Given the description of an element on the screen output the (x, y) to click on. 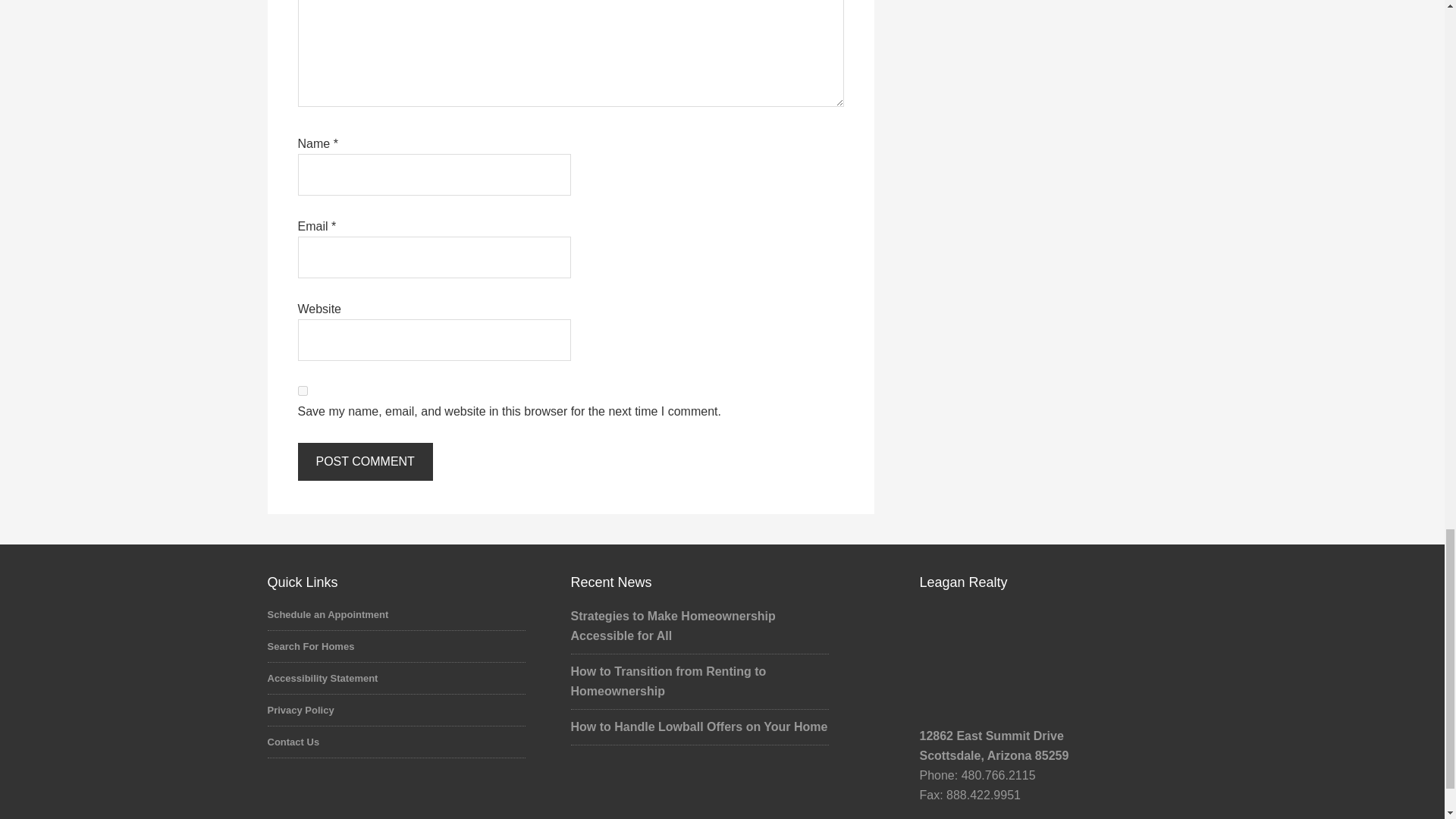
How to Transition from Renting to Homeownership (667, 681)
Privacy Policy (299, 709)
Search For Homes (309, 645)
yes (302, 390)
How to Handle Lowball Offers on Your Home (698, 726)
Contact Us (292, 741)
Strategies to Make Homeownership Accessible for All (672, 625)
Accessibility Statement (321, 677)
Post Comment (364, 461)
Post Comment (364, 461)
Schedule an Appointment (327, 614)
